Given the description of an element on the screen output the (x, y) to click on. 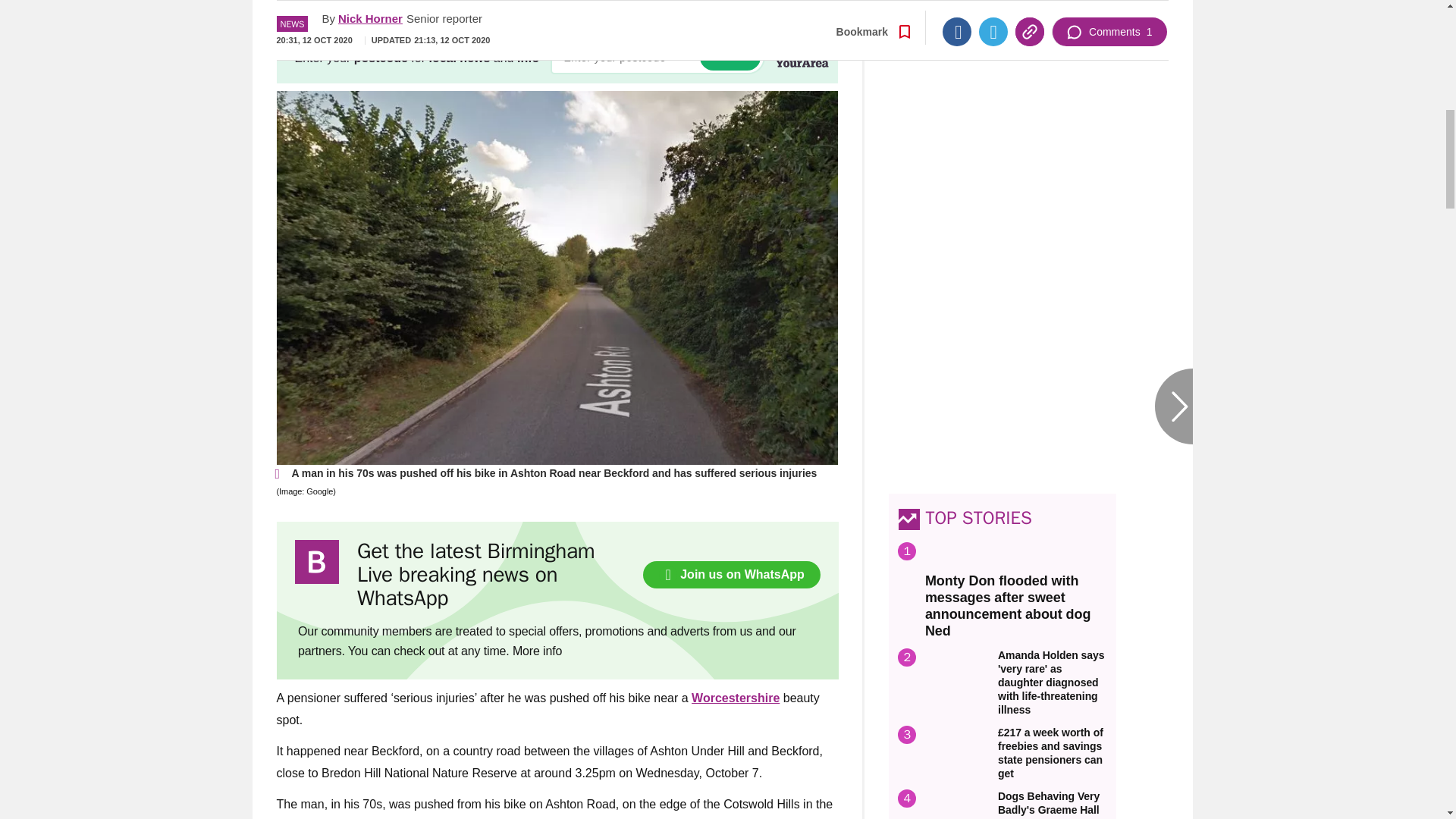
Go (730, 57)
